Given the description of an element on the screen output the (x, y) to click on. 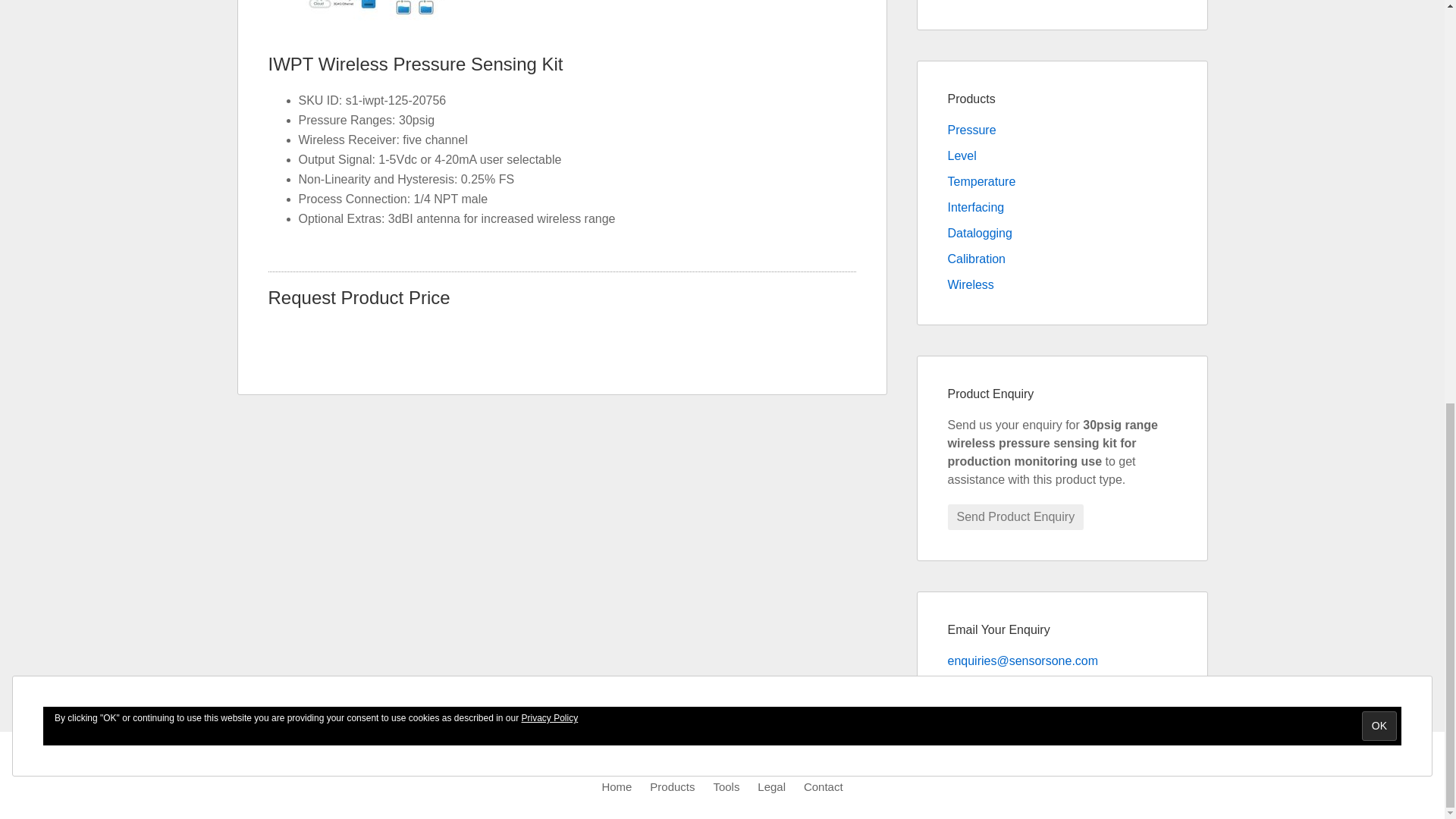
Send Product Enquiry (1015, 516)
Wireless (970, 284)
Send Product Enquiry (1015, 516)
Datalogging (979, 232)
Tools (726, 787)
Pressure (971, 129)
Contact (823, 787)
Level (961, 155)
Interfacing (975, 206)
Calibration (976, 258)
